Given the description of an element on the screen output the (x, y) to click on. 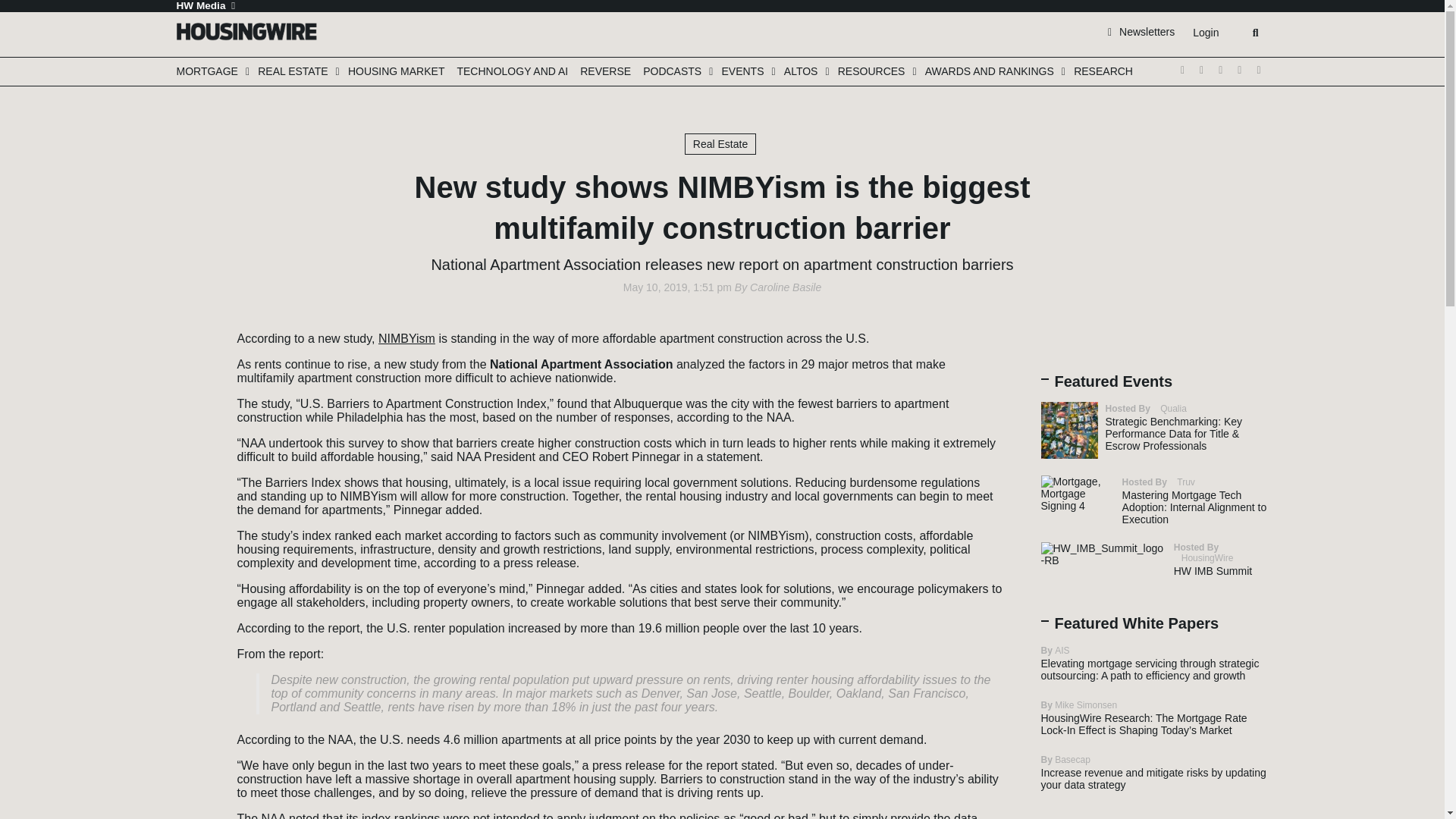
Click to copy link (192, 424)
Click to email a link to a friend (192, 401)
Click to share on LinkedIn (192, 379)
Click to share on Twitter (192, 333)
Login (1205, 32)
Click to share on Facebook (192, 356)
Newsletters (1141, 31)
Posts by Caroline Basile (785, 287)
